Given the description of an element on the screen output the (x, y) to click on. 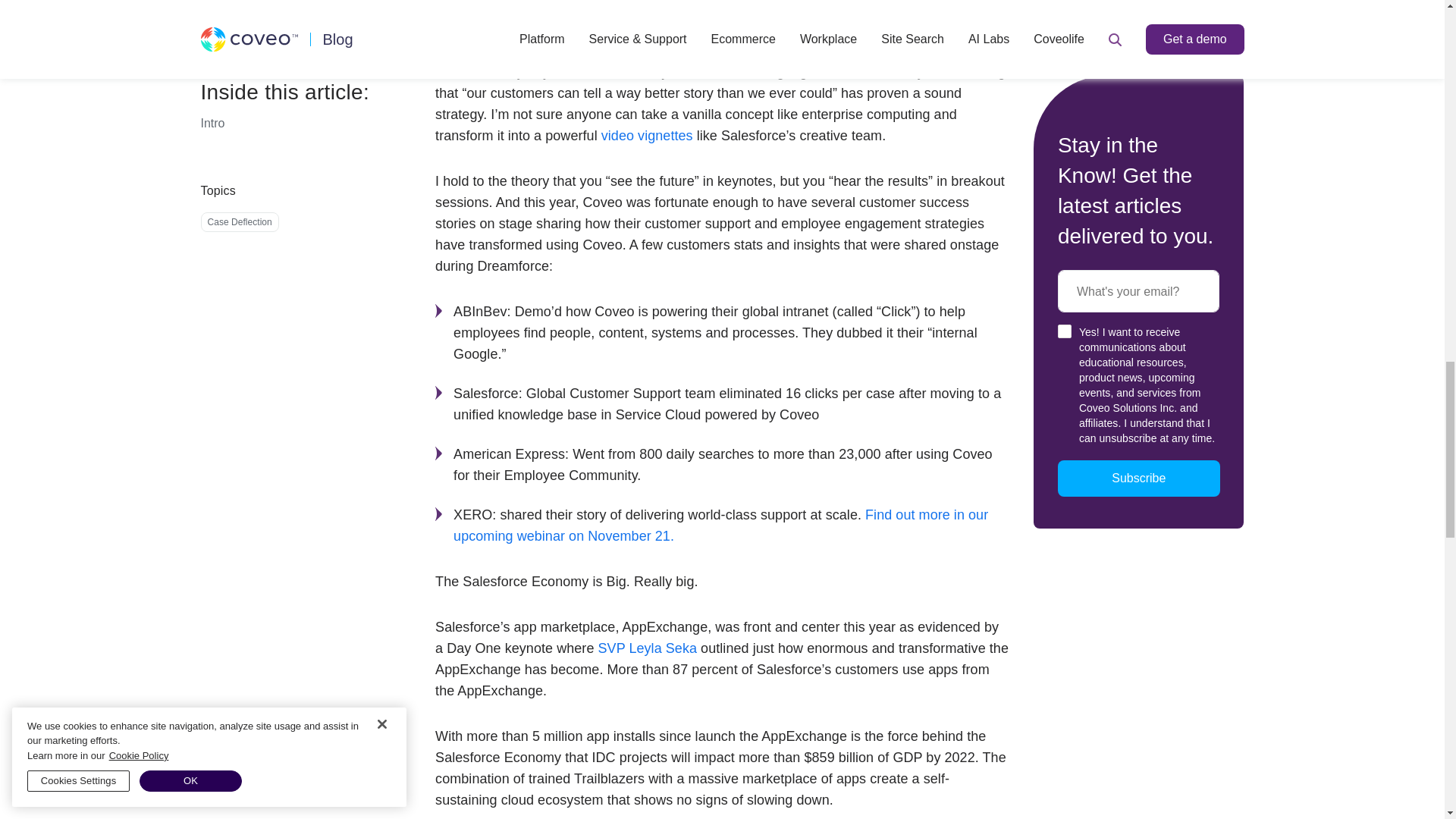
video vignettes (647, 135)
Find out more in our upcoming webinar on November 21. (720, 524)
SVP Leyla Seka (647, 648)
